Given the description of an element on the screen output the (x, y) to click on. 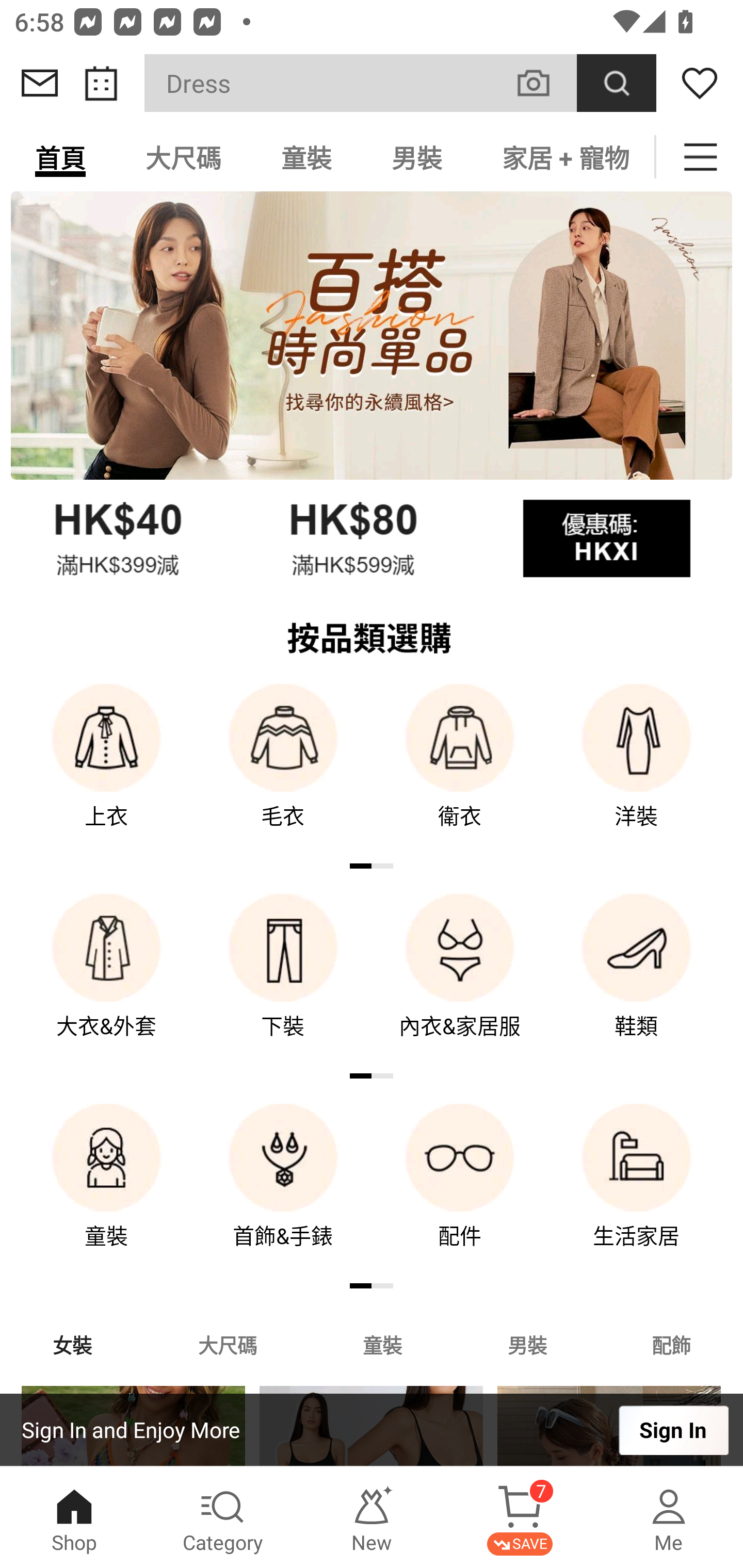
Wishlist (699, 82)
VISUAL SEARCH (543, 82)
首頁 (60, 156)
大尺碼 (183, 156)
童裝 (306, 156)
男裝 (416, 156)
家居 + 寵物 (563, 156)
上衣 (105, 769)
毛衣 (282, 769)
衛衣 (459, 769)
洋裝 (636, 769)
大衣&外套 (105, 979)
下裝 (282, 979)
內衣&家居服 (459, 979)
鞋類 (636, 979)
童裝 (105, 1189)
首飾&手錶 (282, 1189)
配件 (459, 1189)
生活家居 (636, 1189)
女裝 (72, 1344)
大尺碼 (226, 1344)
童裝 (381, 1344)
男裝 (527, 1344)
配飾 (671, 1344)
Sign In and Enjoy More Sign In (371, 1429)
Category (222, 1517)
New (371, 1517)
Cart 7 SAVE (519, 1517)
Me (668, 1517)
